Given the description of an element on the screen output the (x, y) to click on. 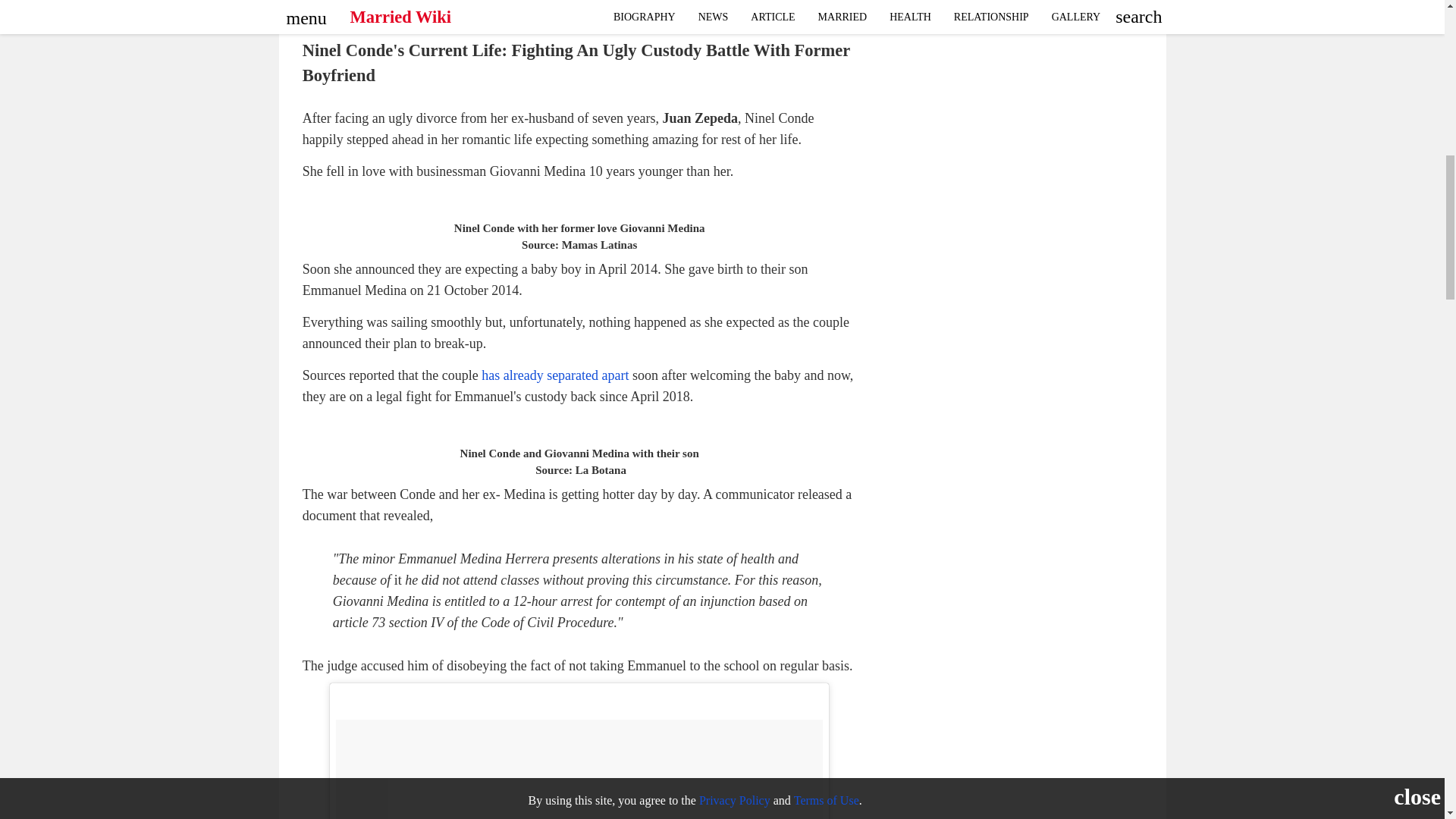
has already separated apart (554, 375)
